Given the description of an element on the screen output the (x, y) to click on. 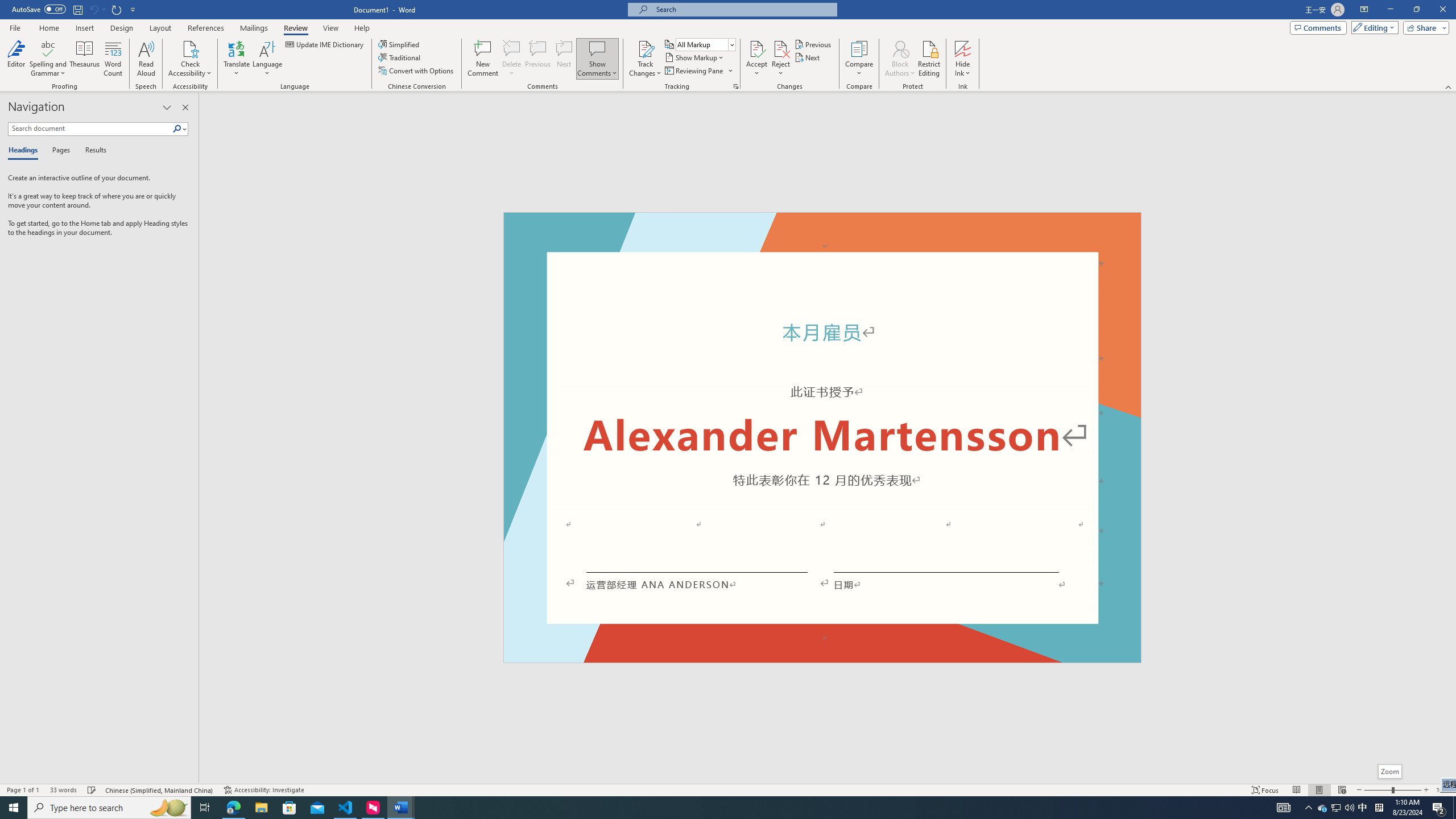
Track Changes (644, 58)
Track Changes (644, 48)
Language (267, 58)
Simplified (400, 44)
Update IME Dictionary... (324, 44)
